Given the description of an element on the screen output the (x, y) to click on. 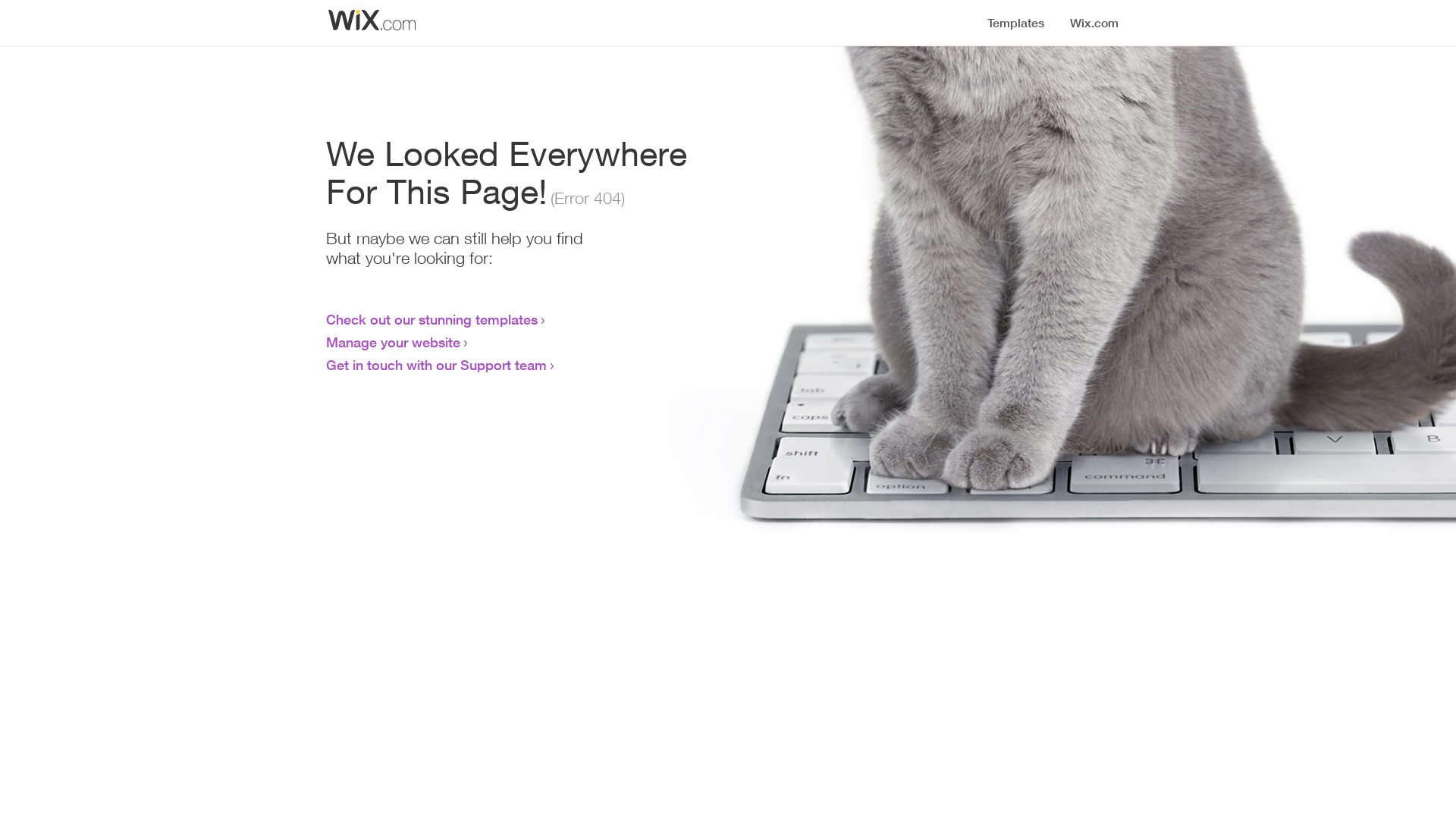
Manage your website Element type: text (393, 341)
Check out our stunning templates Element type: text (431, 318)
Get in touch with our Support team Element type: text (436, 364)
